Given the description of an element on the screen output the (x, y) to click on. 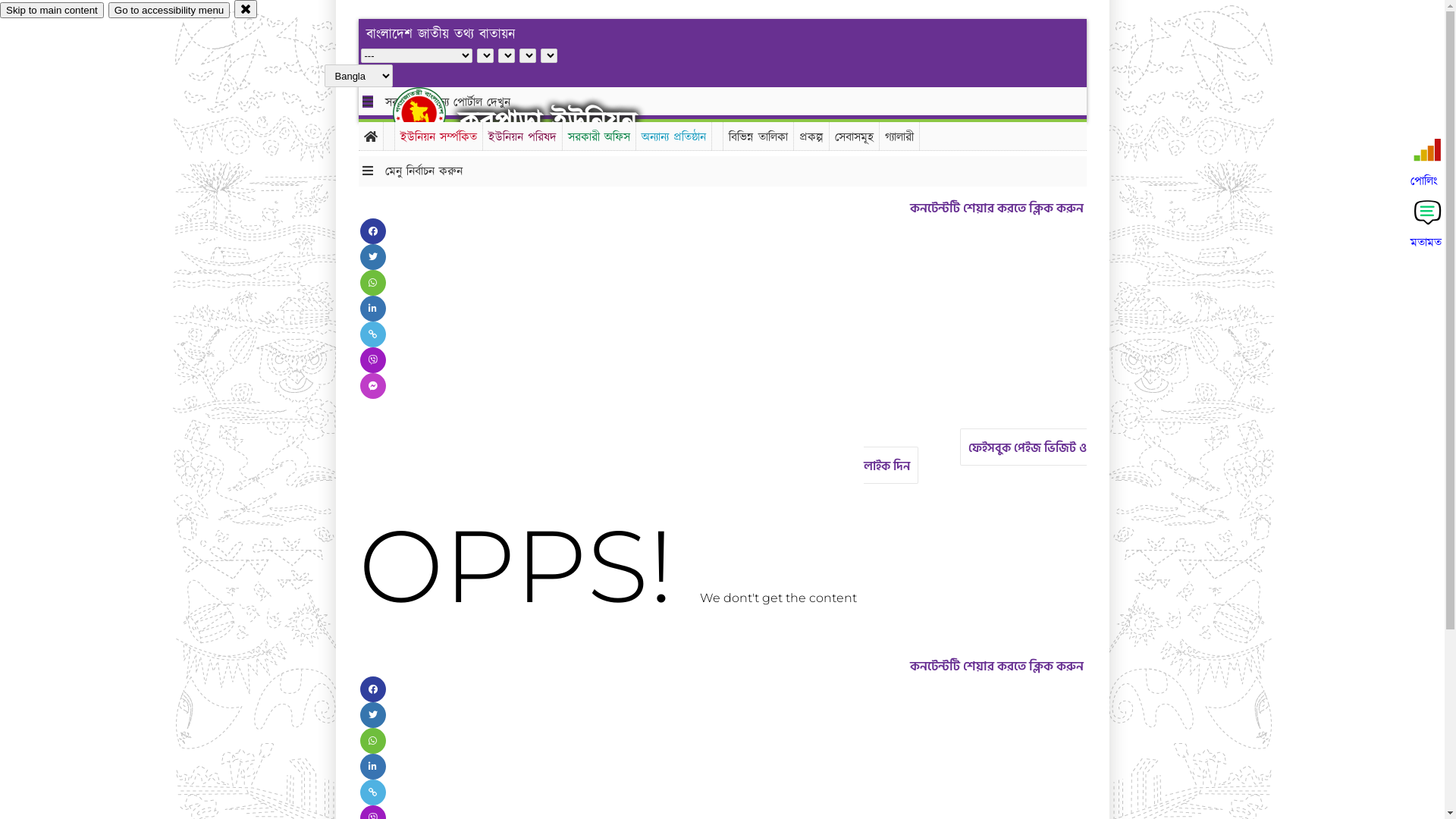
Go to accessibility menu Element type: text (168, 10)
close Element type: hover (245, 9)
Skip to main content Element type: text (51, 10)

                
             Element type: hover (431, 112)
